Given the description of an element on the screen output the (x, y) to click on. 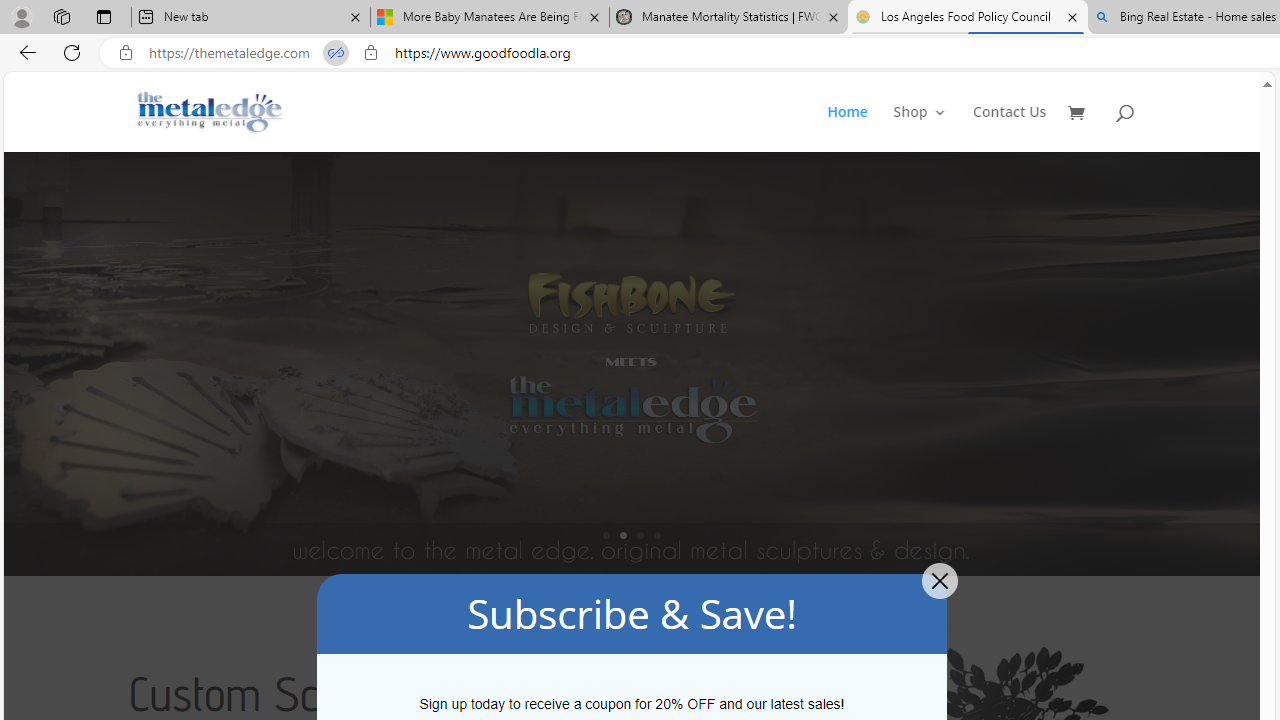
Shop3 (931, 128)
Tabs in split screen (335, 53)
Manatee Mortality Statistics | FWC (729, 17)
1 (606, 535)
